Given the description of an element on the screen output the (x, y) to click on. 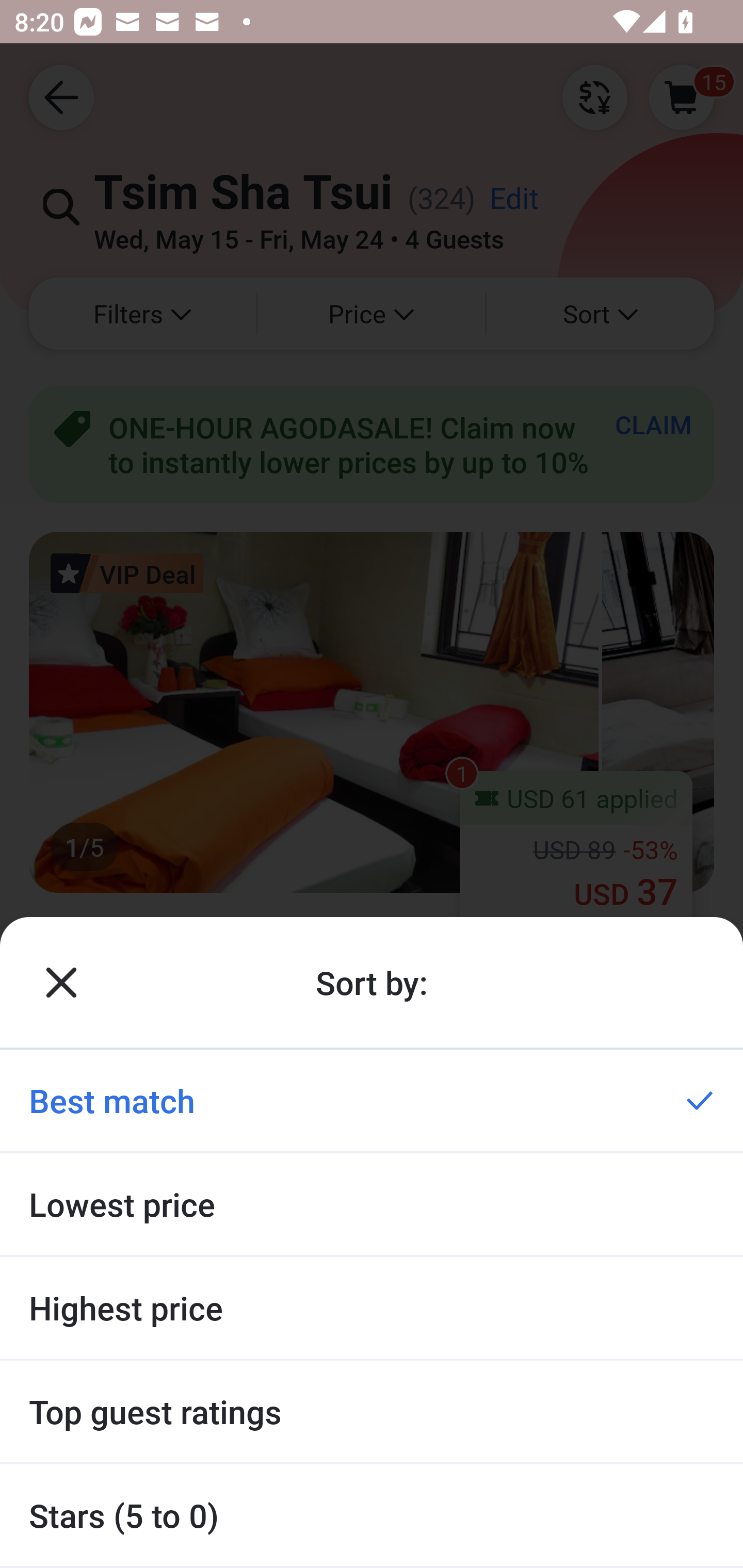
Best match (371, 1099)
Lowest price (371, 1204)
Highest price (371, 1307)
Top guest ratings (371, 1411)
Stars (5 to 0) (371, 1515)
